Given the description of an element on the screen output the (x, y) to click on. 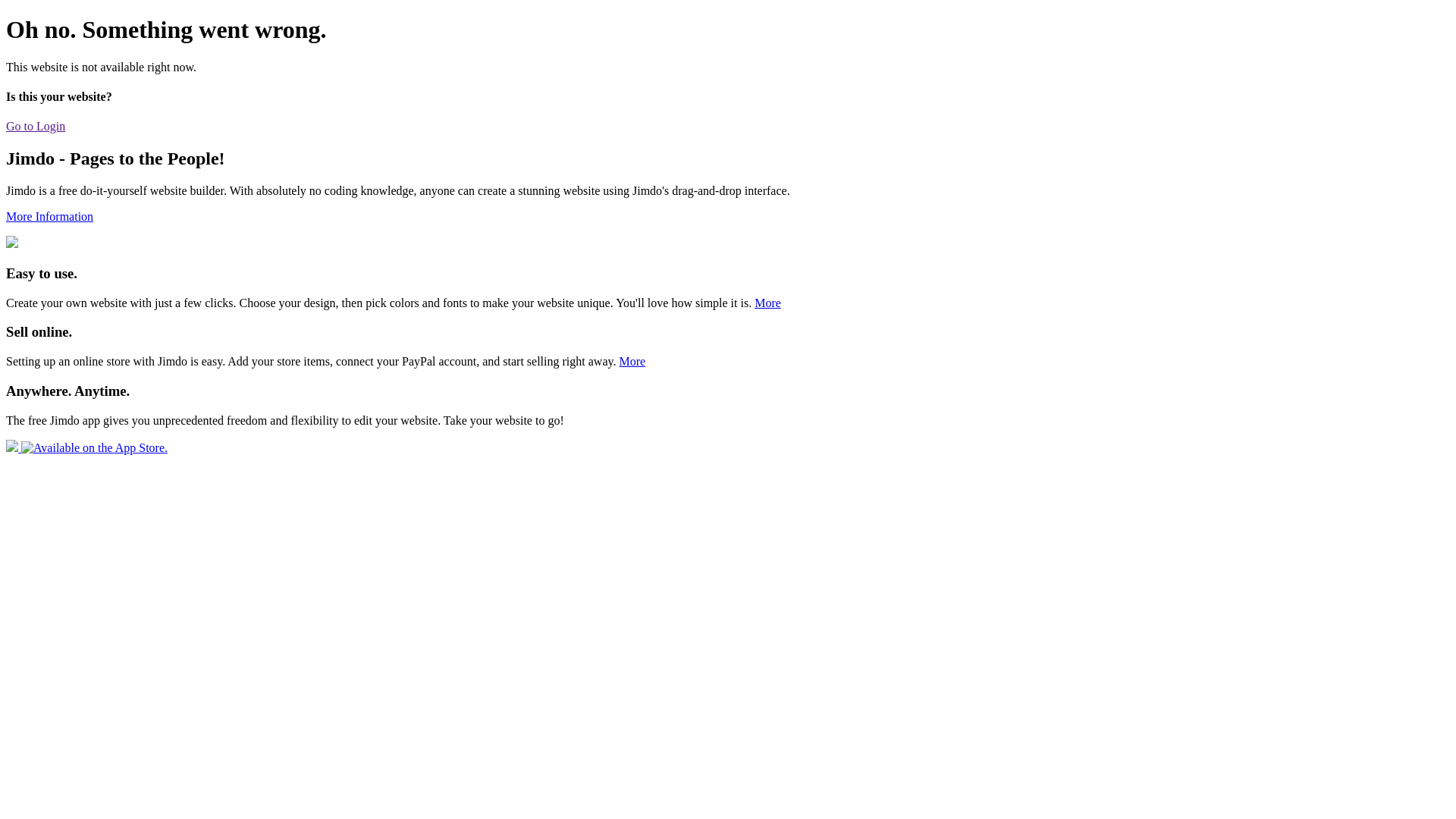
More Element type: text (631, 360)
More Element type: text (767, 302)
More Information Element type: text (49, 216)
Go to Login Element type: text (35, 125)
Available on the App Store. Element type: hover (86, 447)
